Given the description of an element on the screen output the (x, y) to click on. 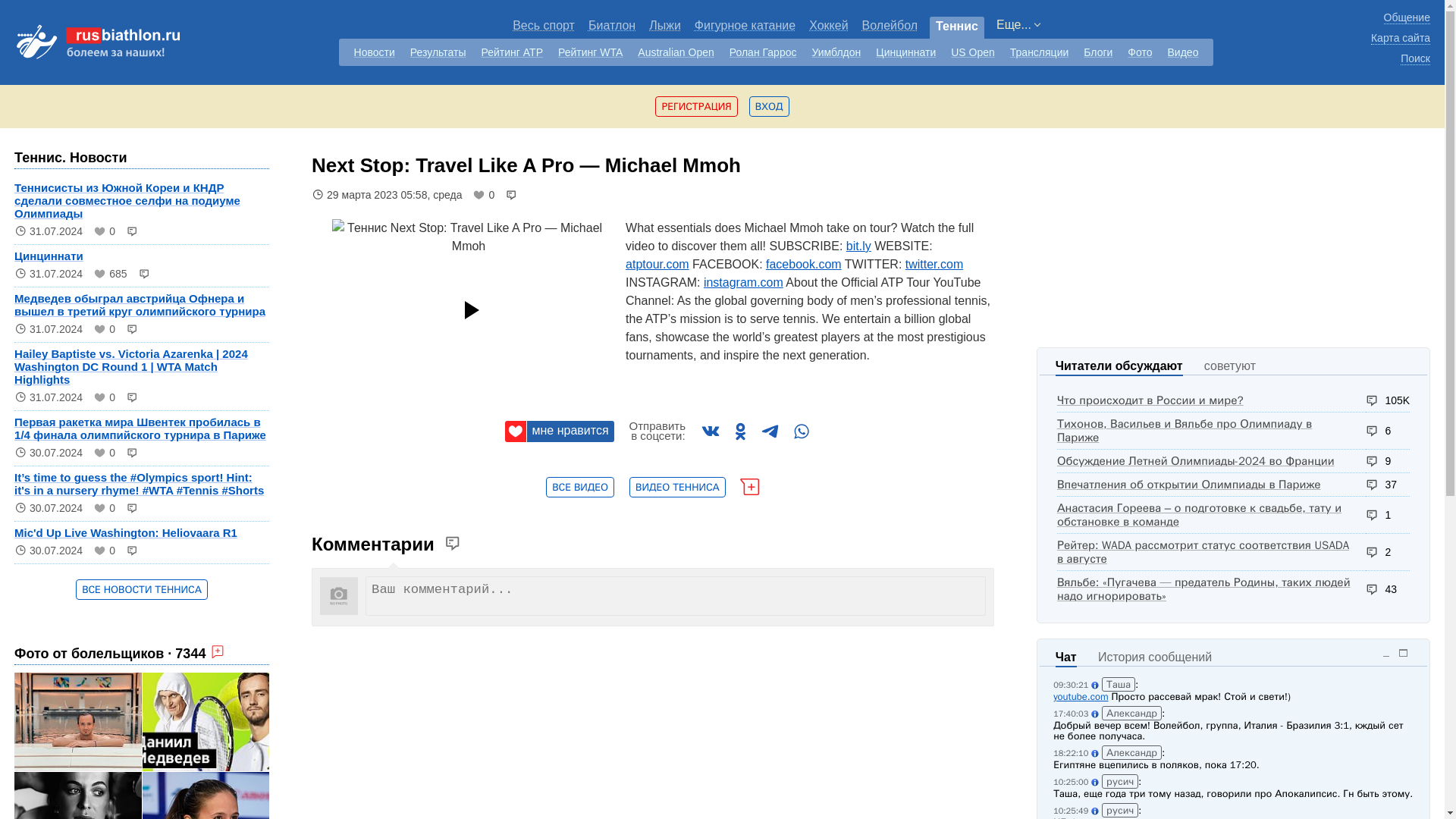
US Open (972, 51)
WhatsApp (801, 431)
Australian Open (675, 51)
